Given the description of an element on the screen output the (x, y) to click on. 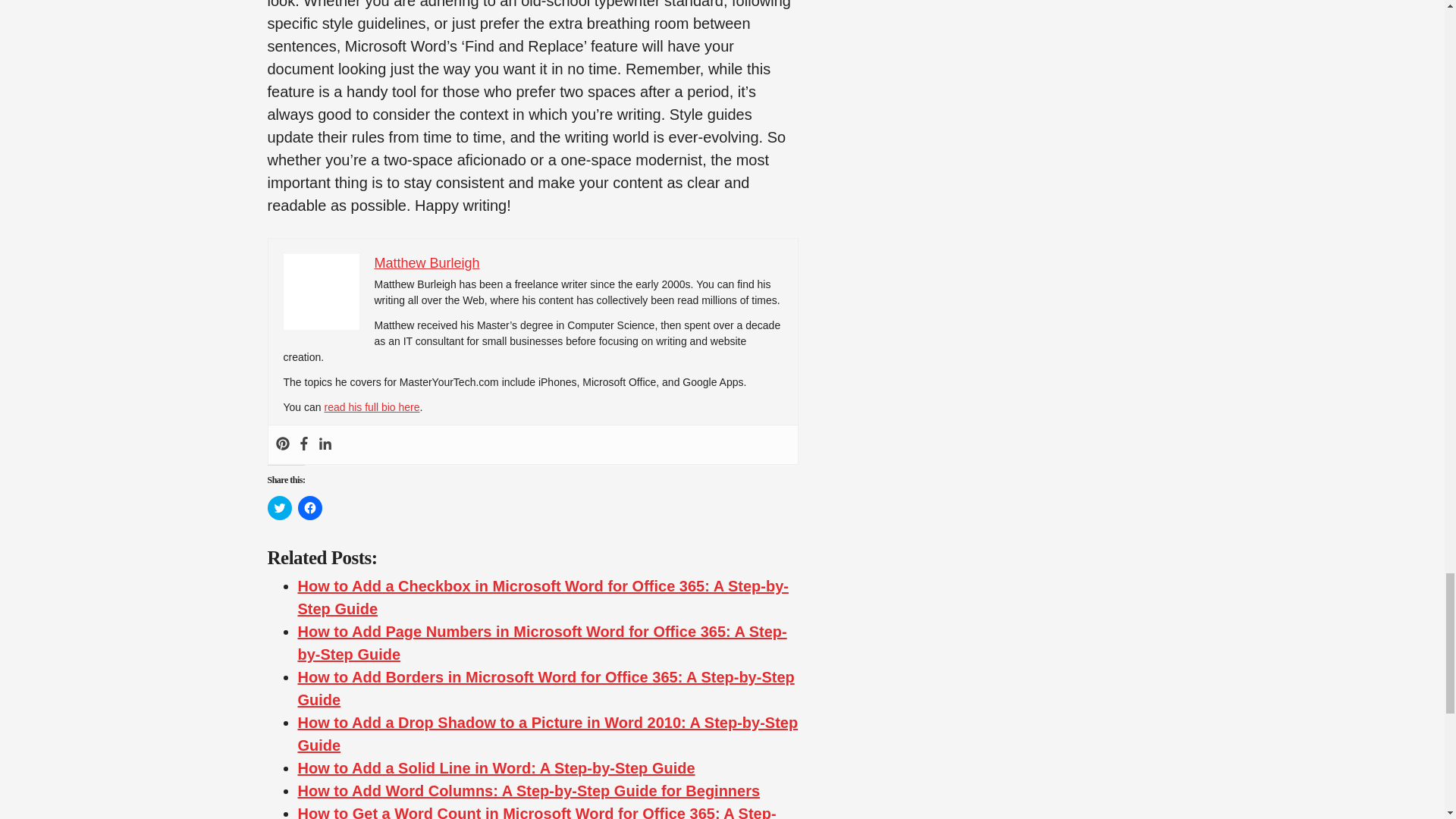
How to Add Word Columns: A Step-by-Step Guide for Beginners (528, 790)
How to Add a Solid Line in Word: A Step-by-Step Guide (495, 768)
read his full bio here (371, 407)
Matthew Burleigh (427, 263)
